Given the description of an element on the screen output the (x, y) to click on. 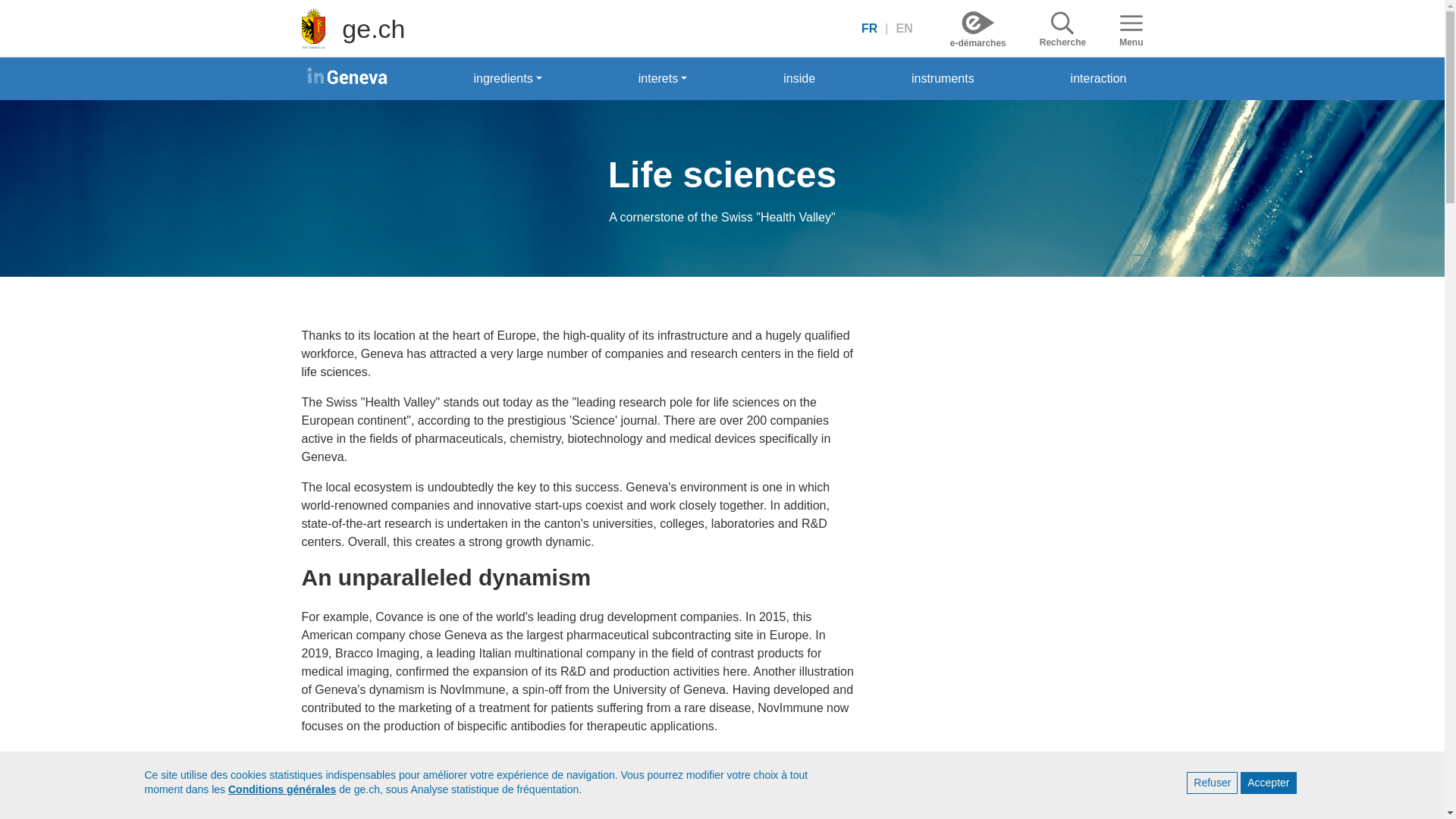
Recherche (1062, 27)
ge.ch (373, 27)
EN (903, 28)
FR (874, 28)
